Given the description of an element on the screen output the (x, y) to click on. 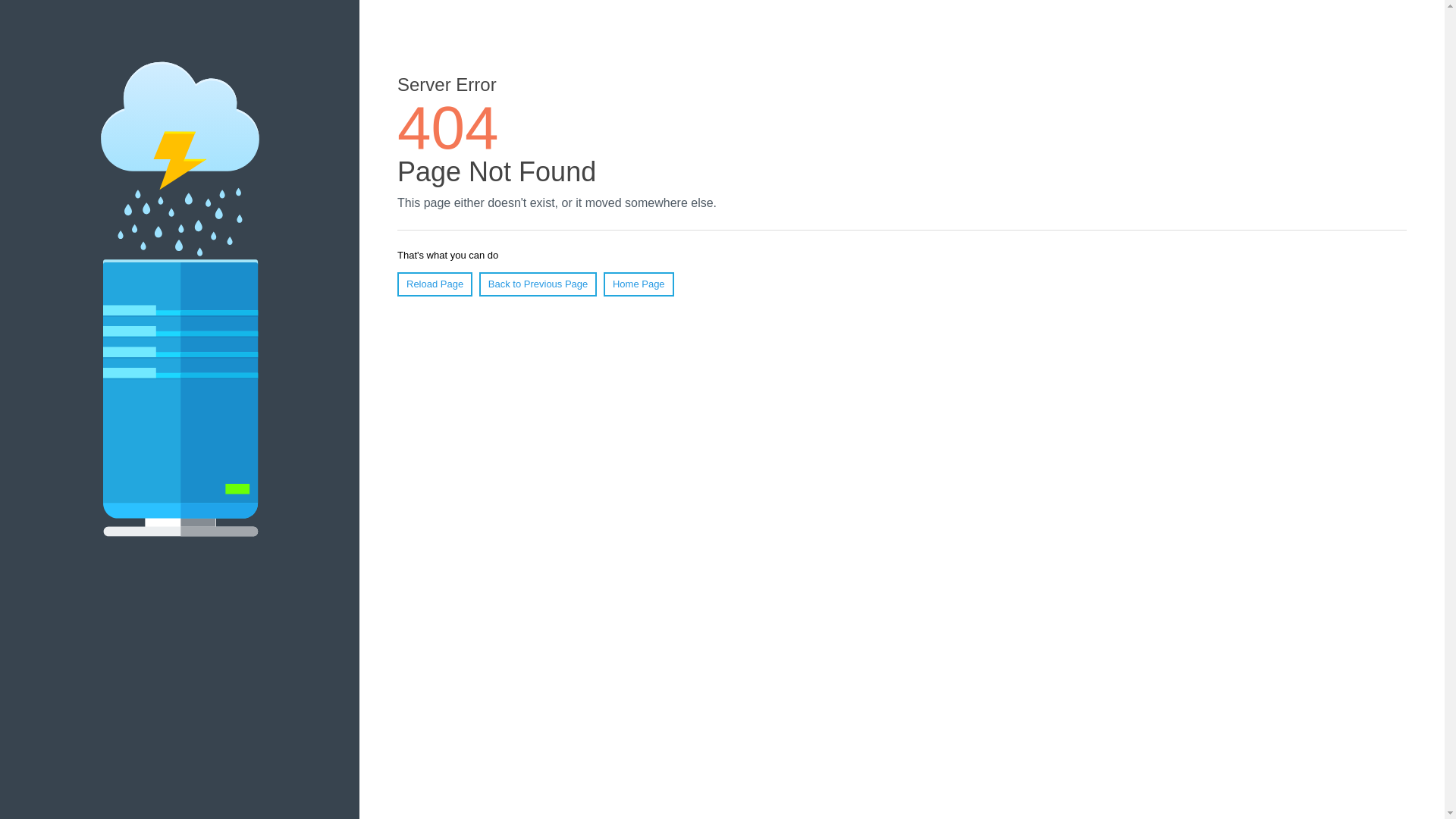
Home Page Element type: text (638, 284)
Back to Previous Page Element type: text (538, 284)
Reload Page Element type: text (434, 284)
